Given the description of an element on the screen output the (x, y) to click on. 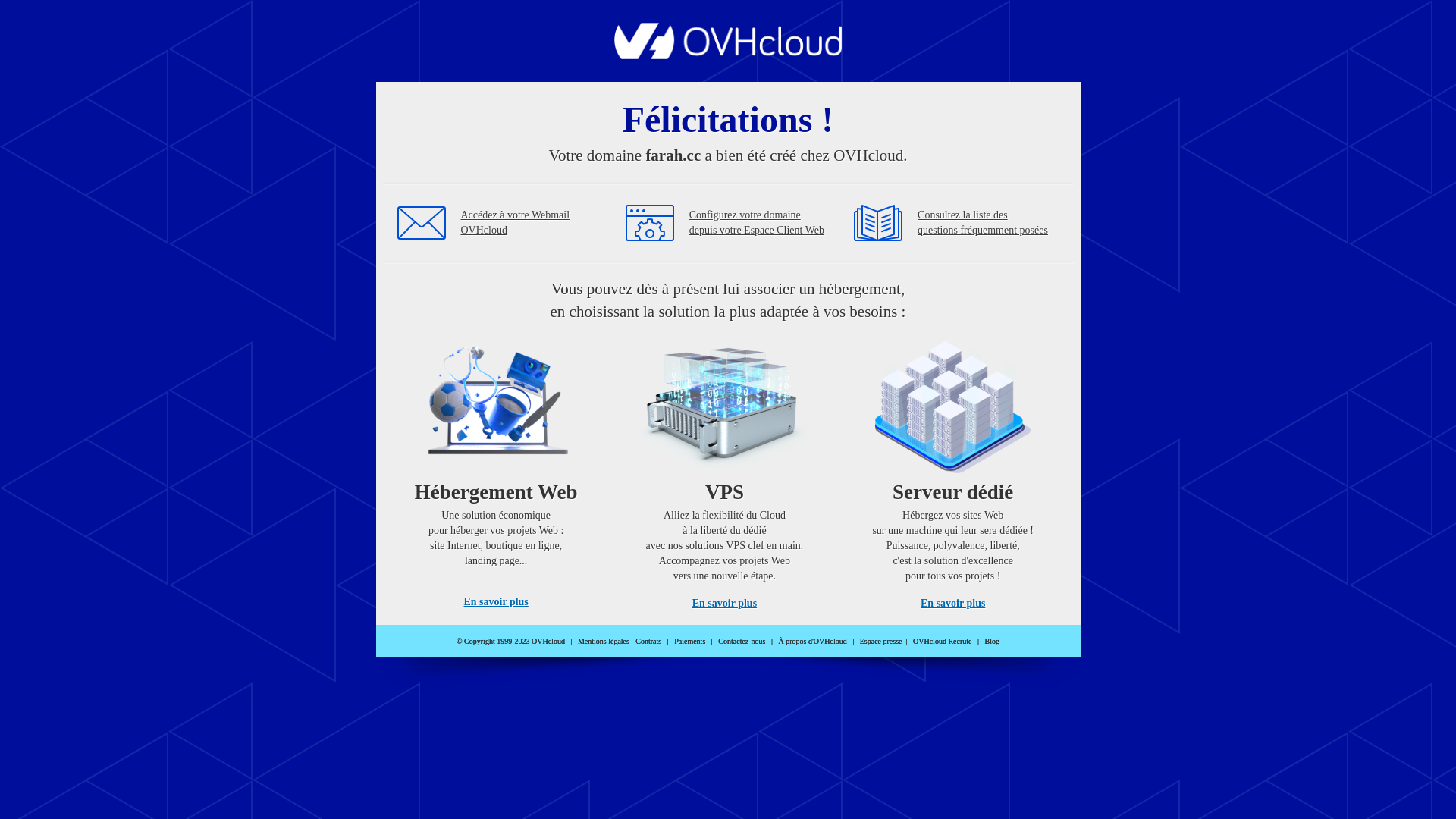
Contactez-nous Element type: text (741, 641)
Paiements Element type: text (689, 641)
OVHcloud Element type: hover (727, 54)
Blog Element type: text (992, 641)
En savoir plus Element type: text (724, 602)
Configurez votre domaine
depuis votre Espace Client Web Element type: text (756, 222)
En savoir plus Element type: text (495, 601)
En savoir plus Element type: text (952, 602)
Espace presse Element type: text (880, 641)
VPS Element type: hover (724, 469)
OVHcloud Recrute Element type: text (942, 641)
